Given the description of an element on the screen output the (x, y) to click on. 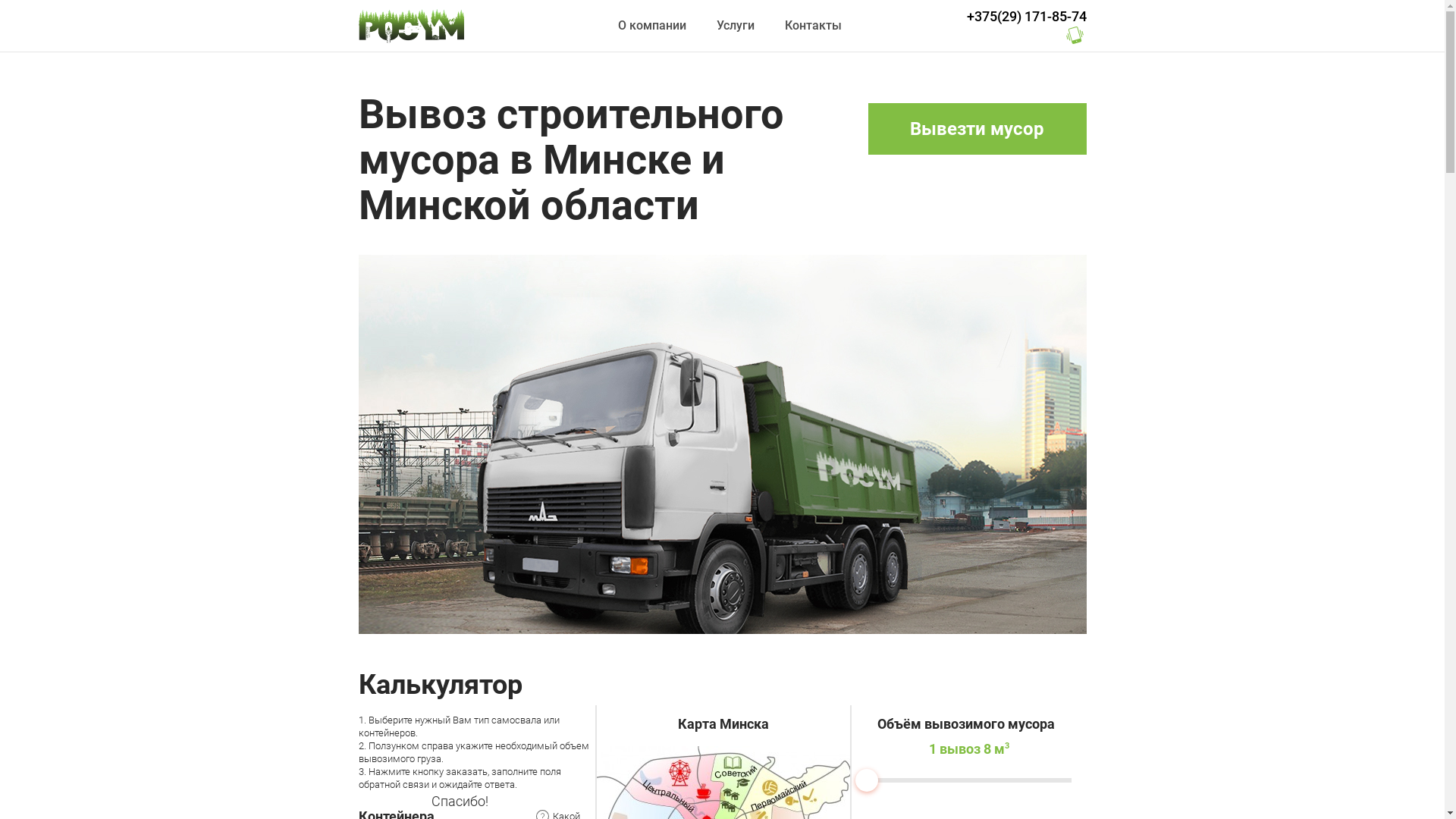
+375(29) 171-85-74 Element type: text (1025, 15)
